Given the description of an element on the screen output the (x, y) to click on. 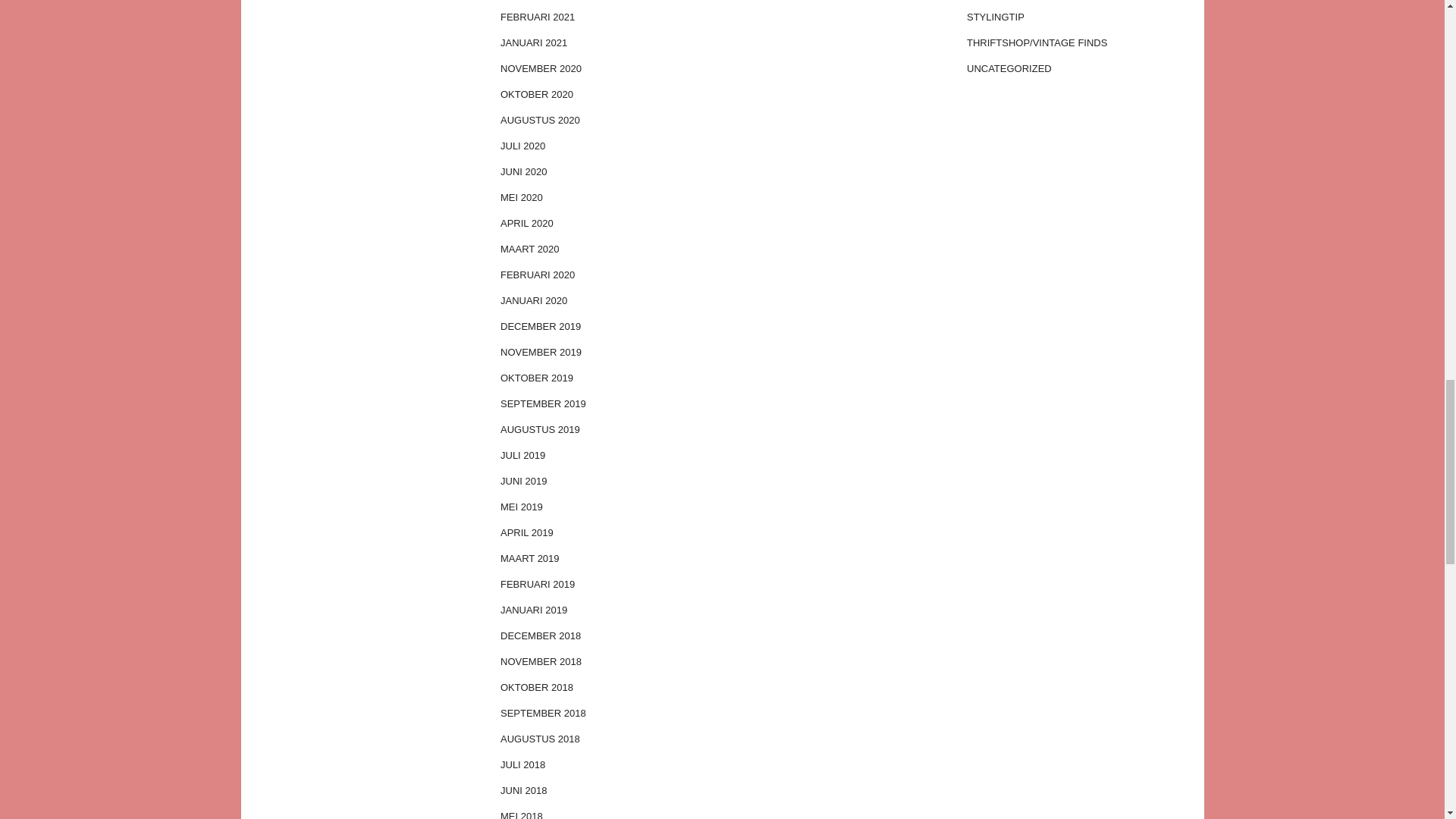
NOVEMBER 2020 (605, 68)
OKTOBER 2020 (605, 94)
JANUARI 2021 (605, 43)
FEBRUARI 2021 (605, 17)
MEI 2021 (605, 2)
